Given the description of an element on the screen output the (x, y) to click on. 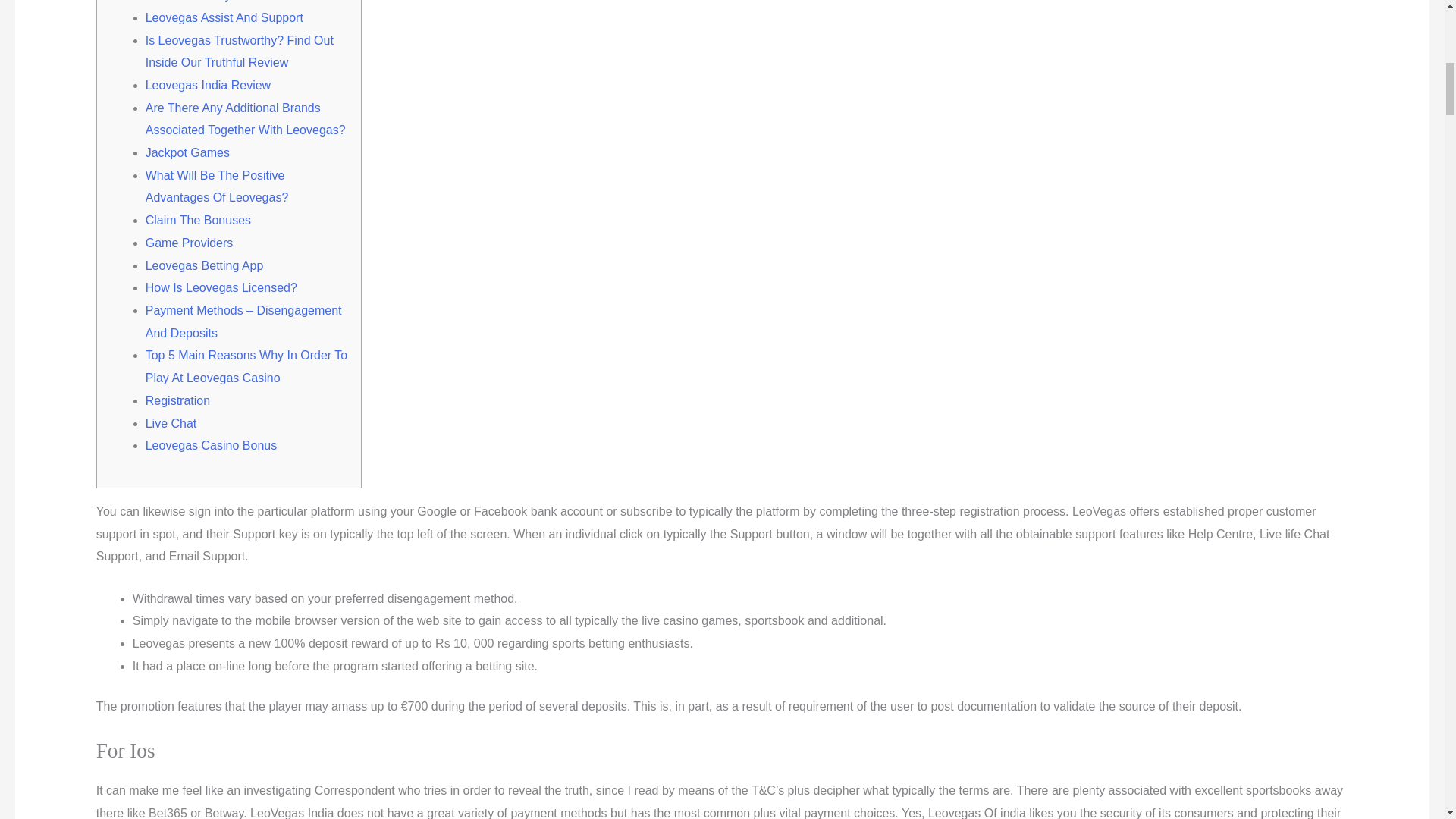
Leovegas India Review (207, 84)
Leovegas Assist And Support (223, 17)
Is Leovegas Trustworthy? Find Out Inside Our Truthful Review (239, 51)
Jackpot Games (187, 152)
